Given the description of an element on the screen output the (x, y) to click on. 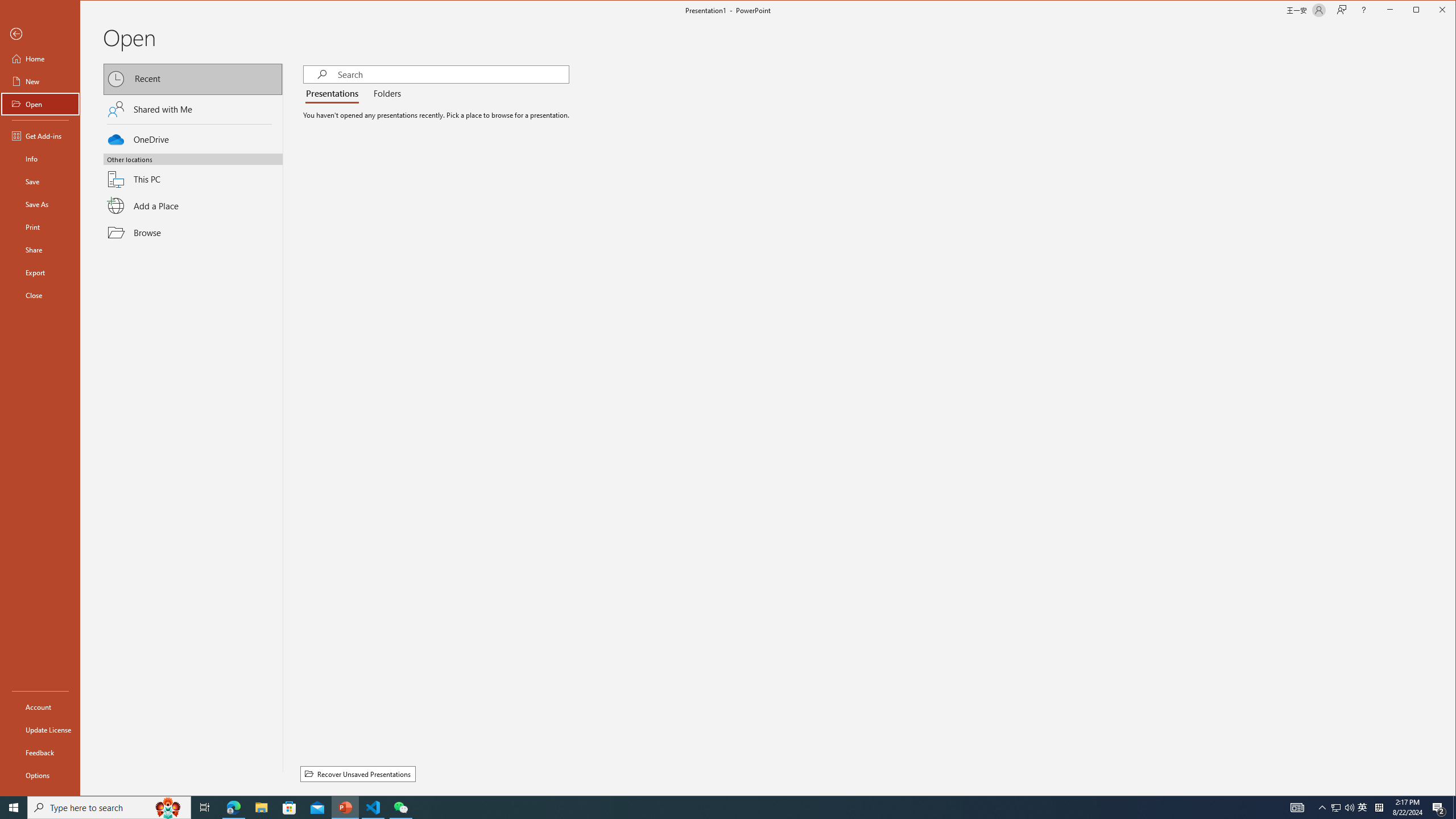
Feedback (40, 752)
This PC (193, 172)
Back (40, 34)
OneDrive (193, 137)
